Given the description of an element on the screen output the (x, y) to click on. 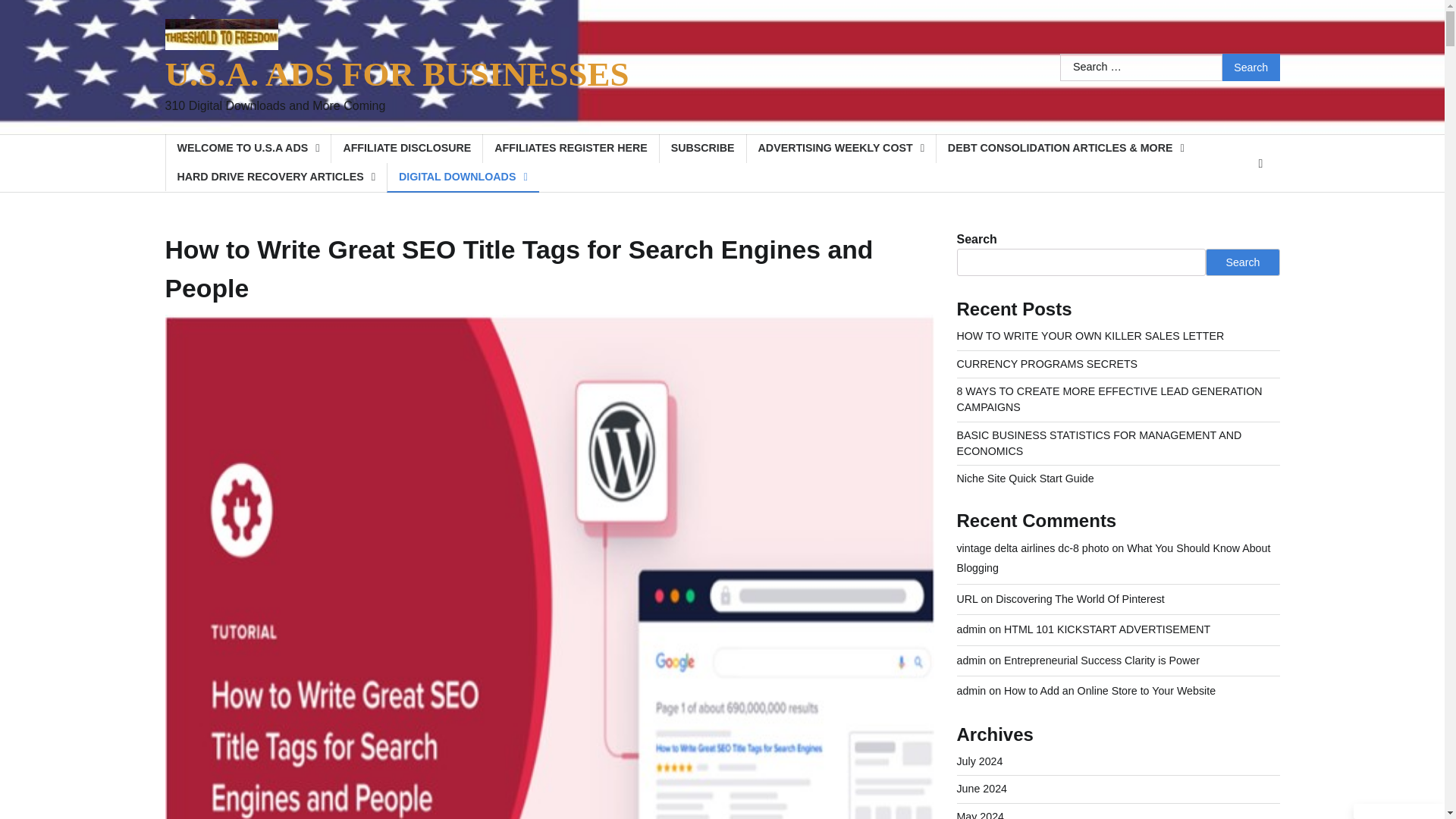
HARD DRIVE RECOVERY ARTICLES (276, 176)
Search (1251, 67)
Search (1251, 67)
SUBSCRIBE (702, 148)
AFFILIATE DISCLOSURE (405, 148)
WELCOME TO U.S.A ADS (248, 148)
DIGITAL DOWNLOADS (462, 177)
ADVERTISING WEEKLY COST (840, 148)
U.S.A. ADS FOR BUSINESSES (396, 74)
Search (1251, 67)
View Random Post (1260, 163)
AFFILIATES REGISTER HERE (569, 148)
